Given the description of an element on the screen output the (x, y) to click on. 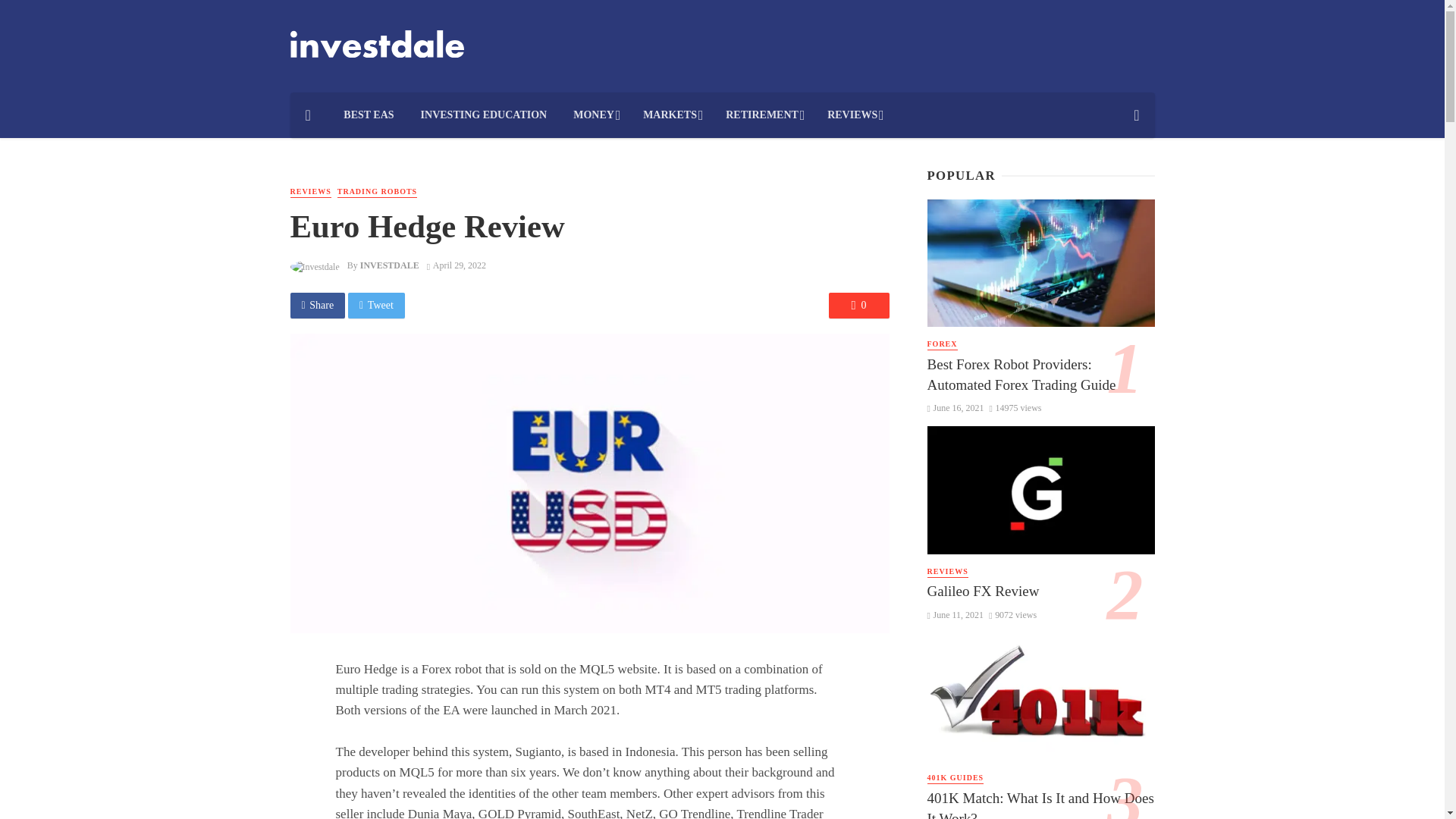
Tweet (375, 305)
REVIEWS (853, 115)
BEST EAS (368, 115)
TRADING ROBOTS (376, 192)
RETIREMENT (763, 115)
INVESTDALE (389, 265)
Posts by Investdale (389, 265)
0 (858, 305)
INVESTING EDUCATION (483, 115)
Share (317, 305)
April 29, 2022 at 10:22 am (456, 265)
MARKETS (671, 115)
MONEY (595, 115)
REVIEWS (309, 192)
